Given the description of an element on the screen output the (x, y) to click on. 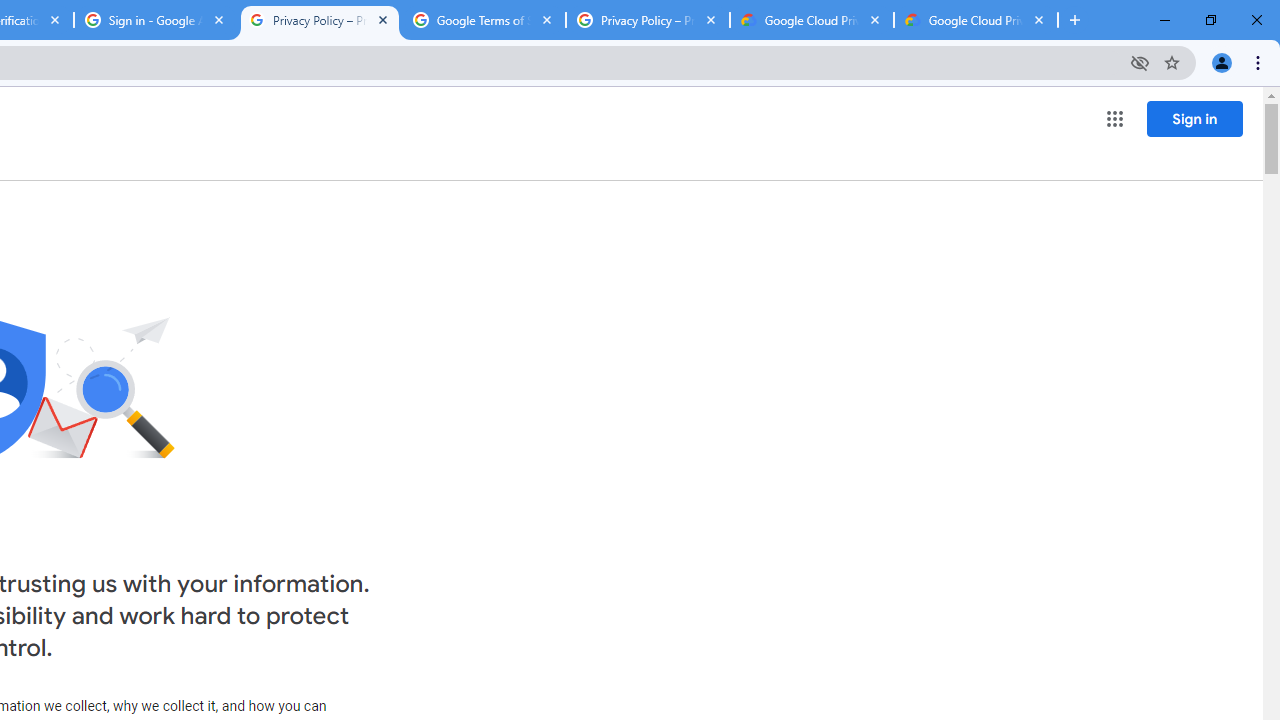
Sign in - Google Accounts (156, 20)
Google Cloud Privacy Notice (811, 20)
Google Cloud Privacy Notice (975, 20)
